Given the description of an element on the screen output the (x, y) to click on. 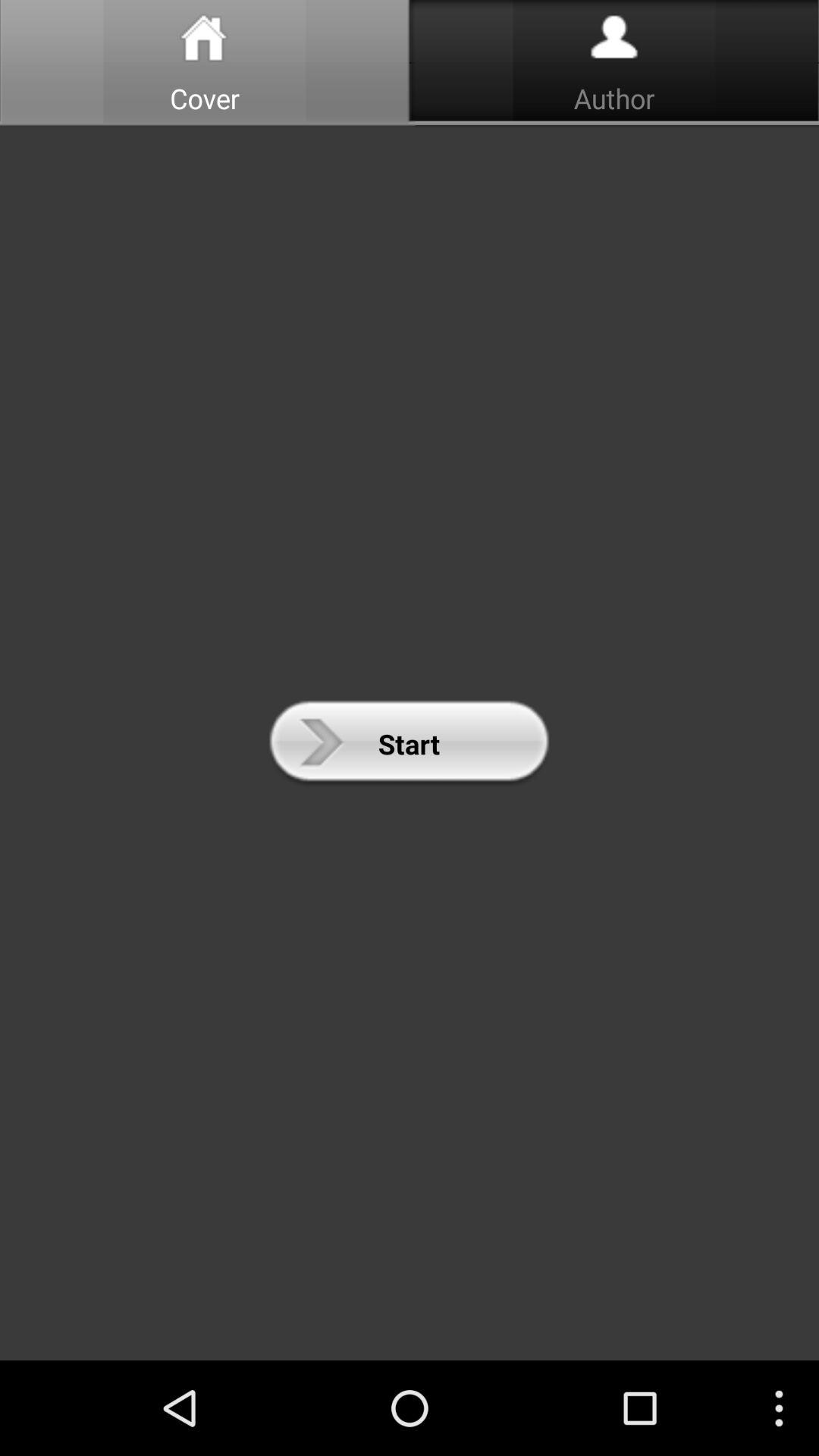
open start icon (408, 743)
